Given the description of an element on the screen output the (x, y) to click on. 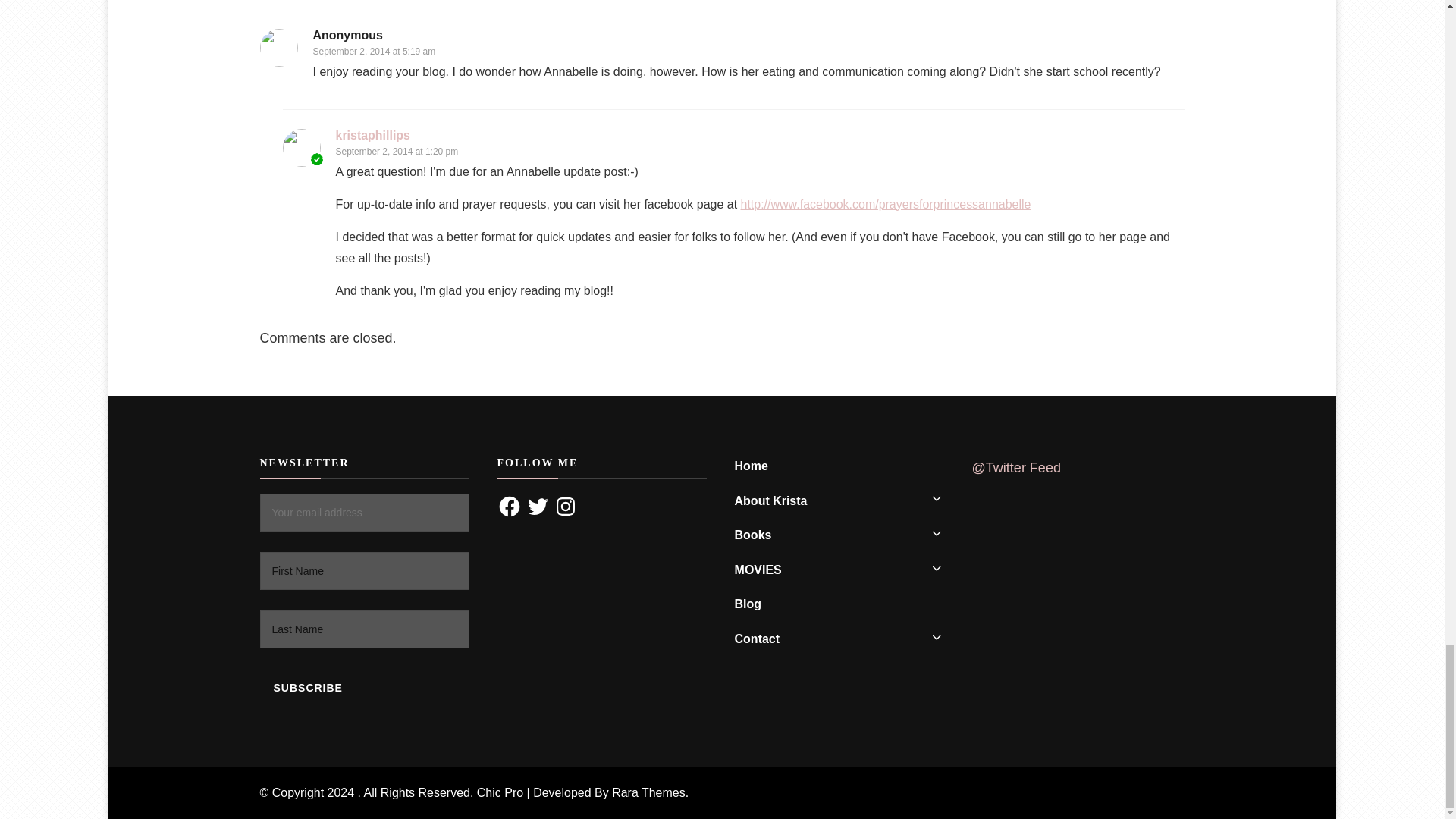
Last Name (363, 629)
First Name (363, 570)
Subscribe (307, 687)
